Given the description of an element on the screen output the (x, y) to click on. 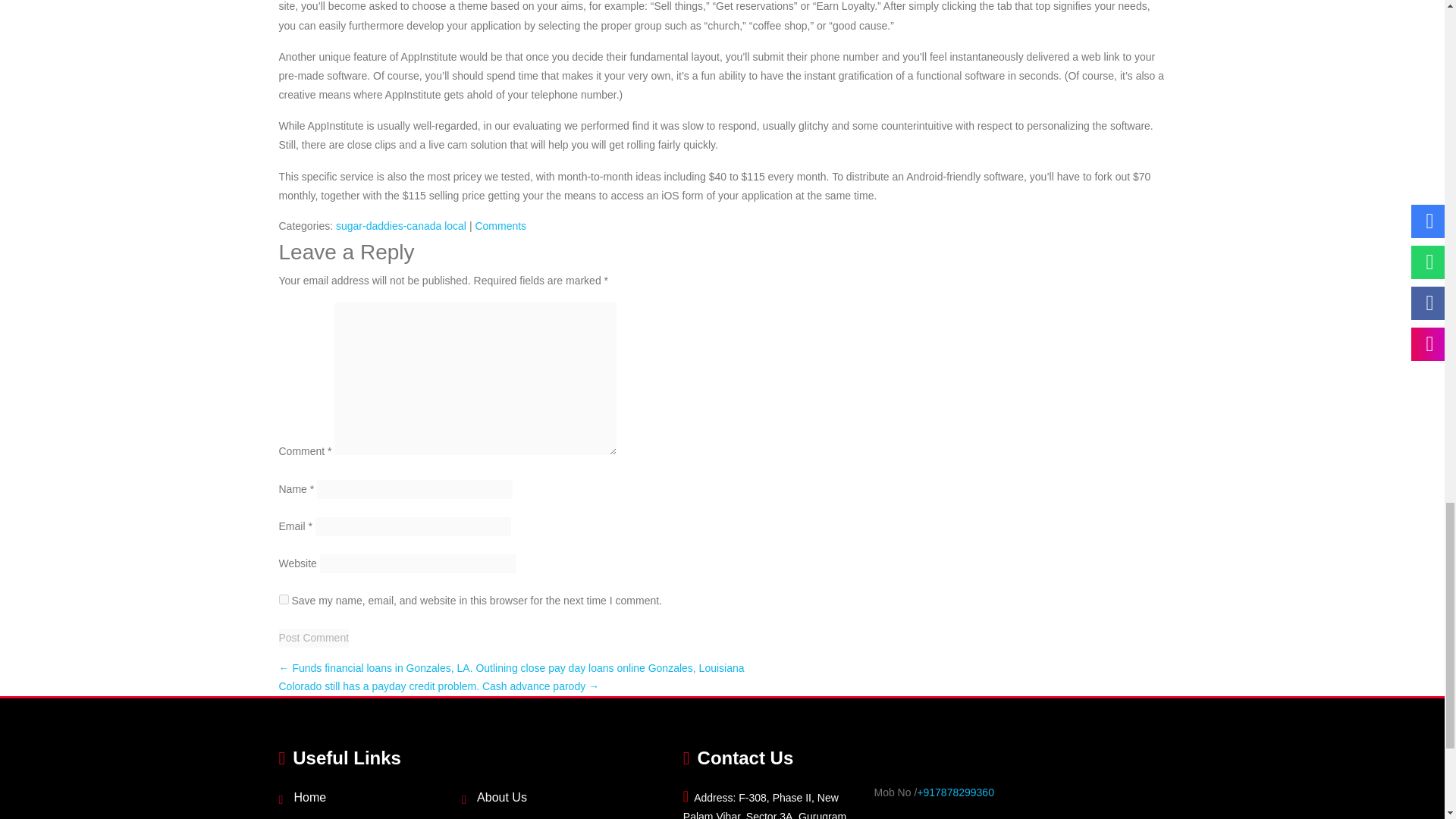
yes (283, 599)
Comments (499, 225)
sugar-daddies-canada local (400, 225)
Post Comment (314, 637)
